Given the description of an element on the screen output the (x, y) to click on. 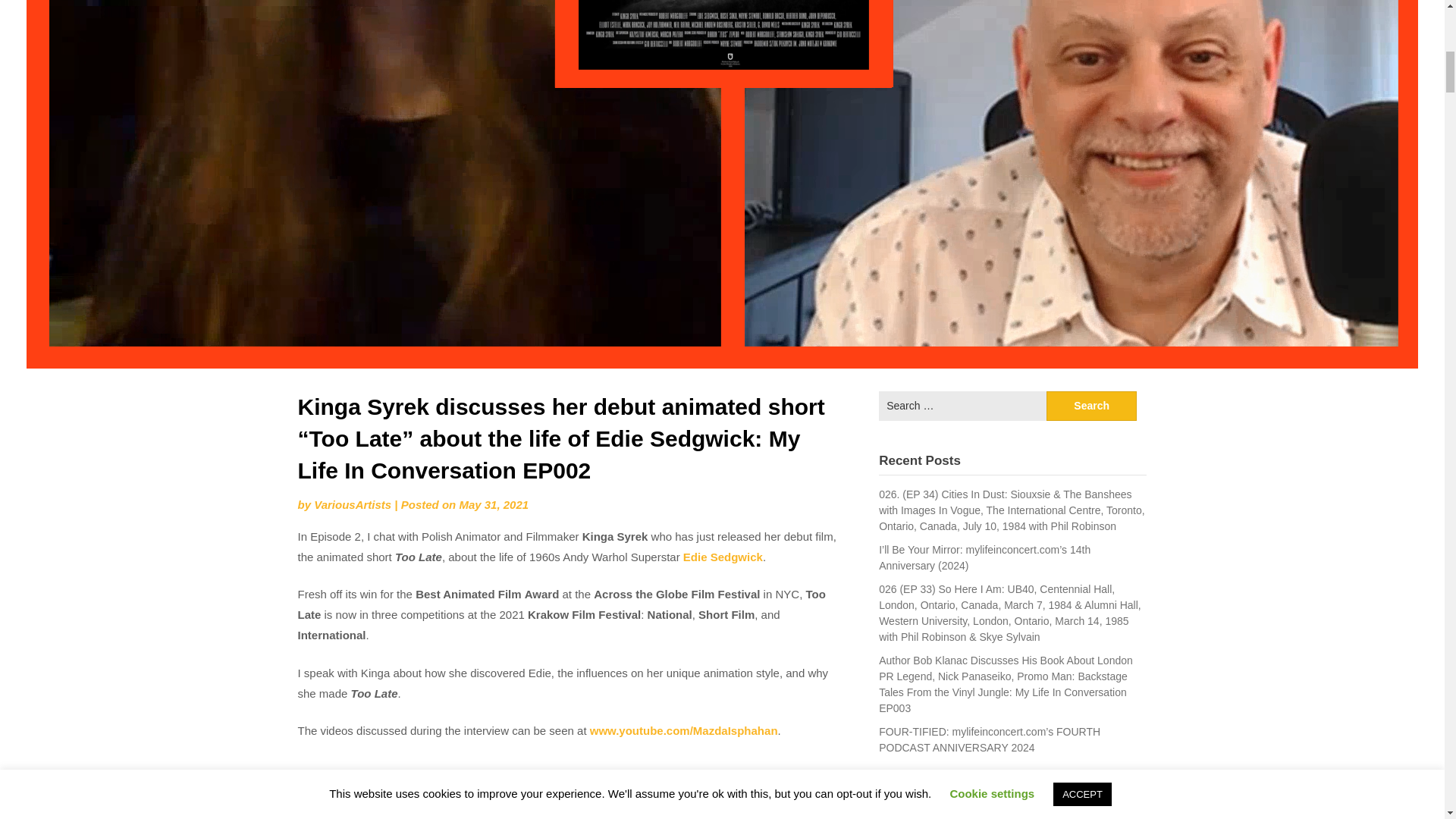
Search (1091, 405)
May 31, 2021 (493, 504)
Edie Sedgwick (722, 556)
YouTube video player (570, 788)
Search (1091, 405)
VariousArtists (352, 504)
